Given the description of an element on the screen output the (x, y) to click on. 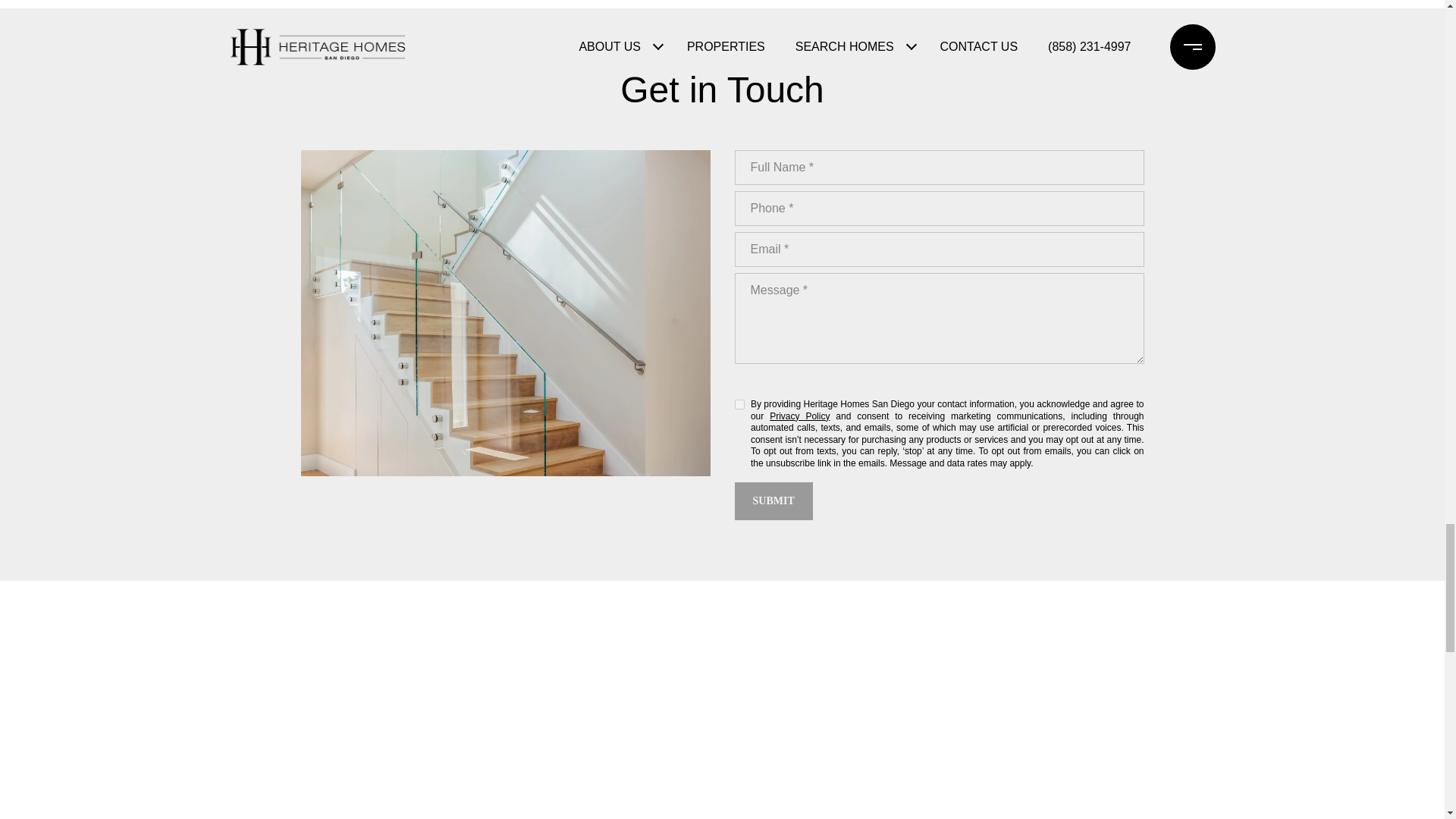
on (738, 404)
